Given the description of an element on the screen output the (x, y) to click on. 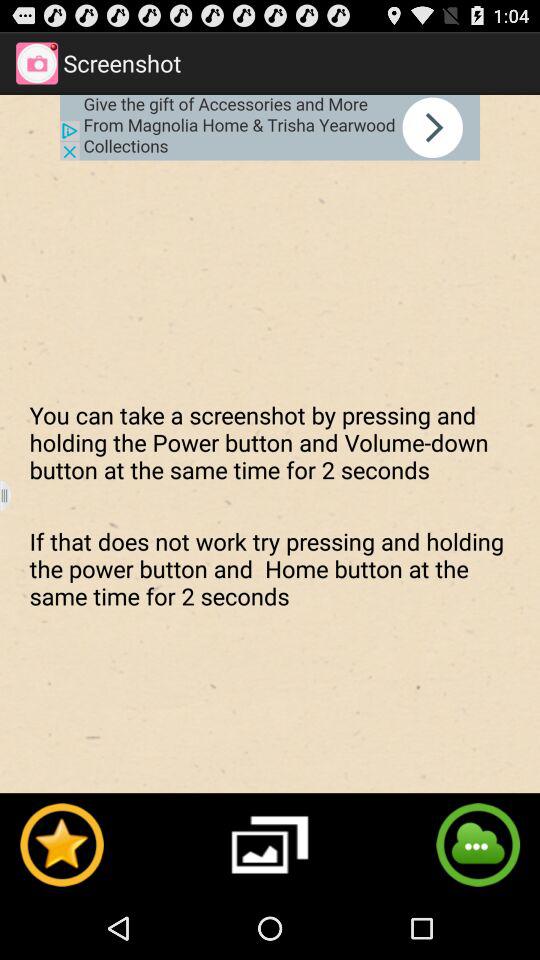
take picture (269, 844)
